Given the description of an element on the screen output the (x, y) to click on. 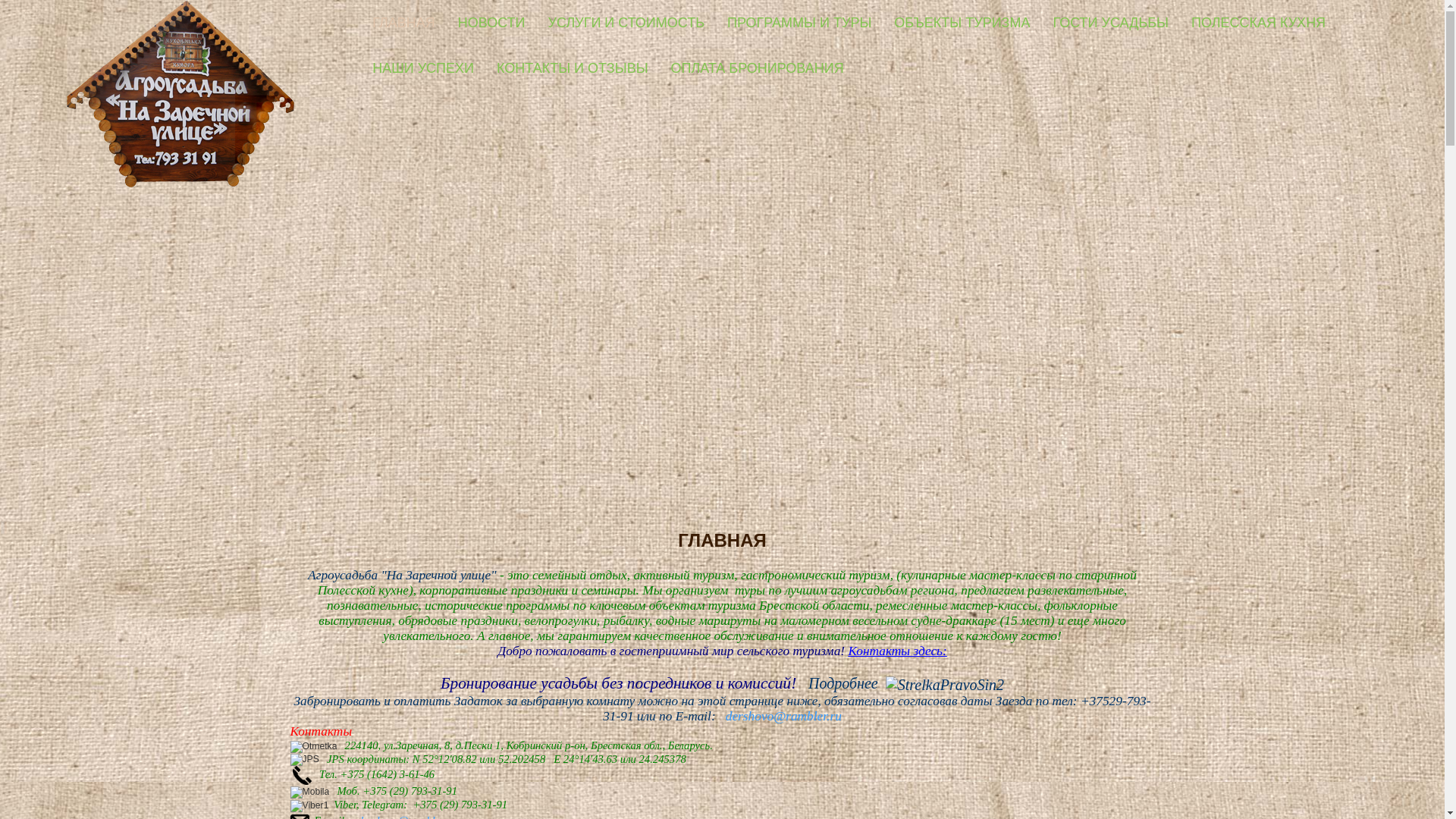
dershovo@rambler.ru Element type: text (783, 716)
